Given the description of an element on the screen output the (x, y) to click on. 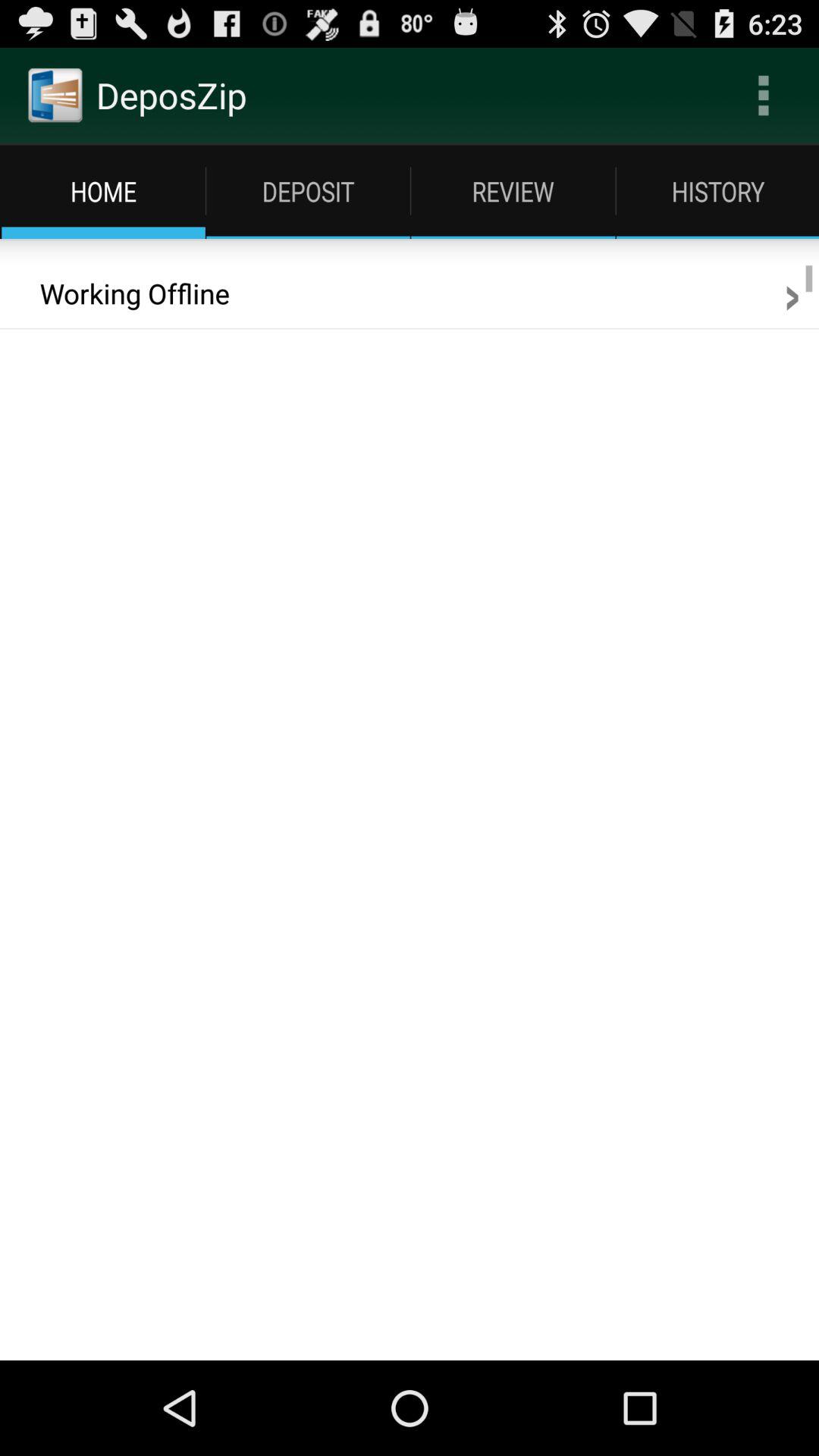
tap the icon to the right of the deposzip item (763, 95)
